Given the description of an element on the screen output the (x, y) to click on. 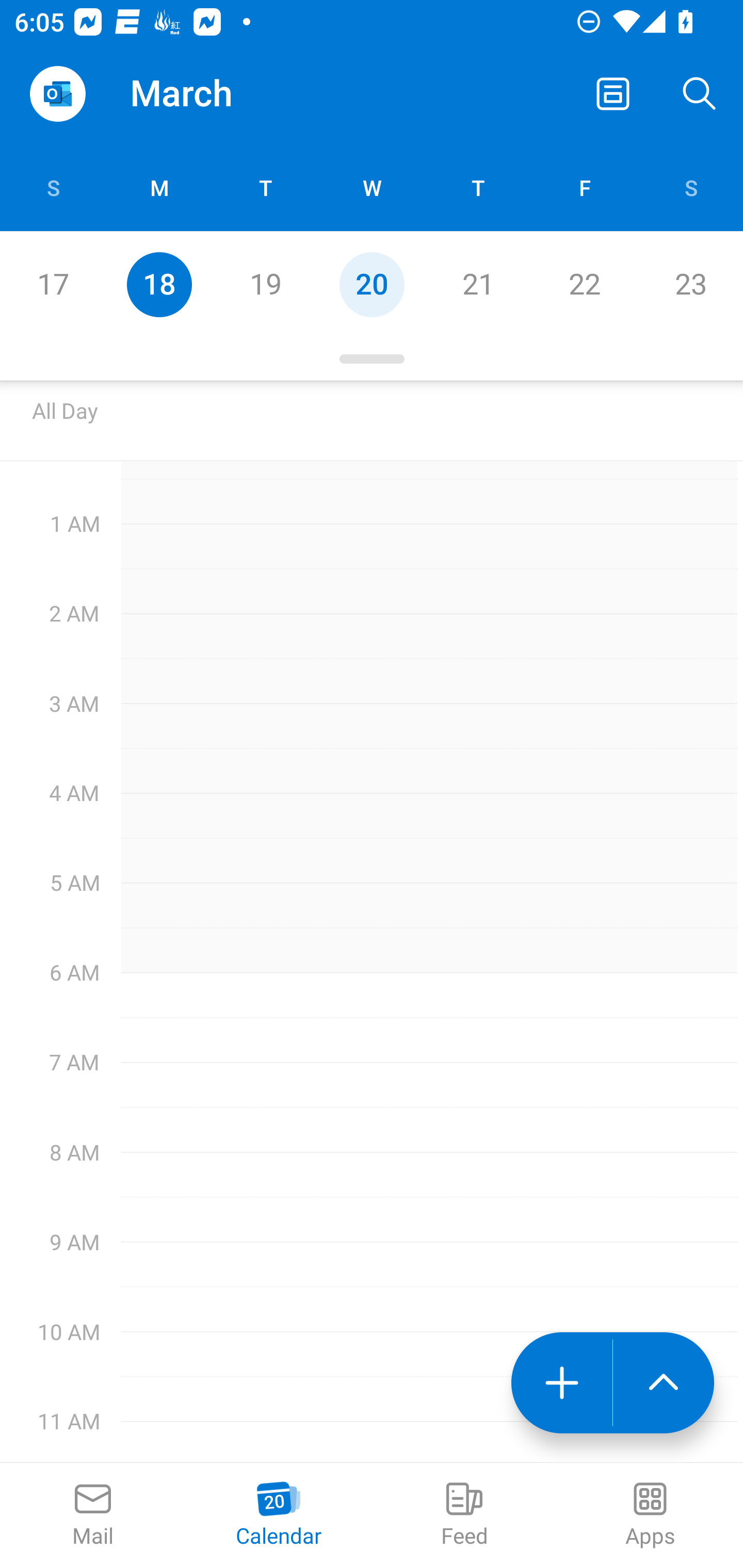
March March 2024, day picker (209, 93)
Switch away from Day view (612, 93)
Search, ,  (699, 93)
Open Navigation Drawer (57, 94)
17 Sunday, March 17 (53, 284)
18 Monday, March 18, Selected (159, 284)
19 Tuesday, March 19 (265, 284)
20 Wednesday, March 20, today (371, 284)
21 Thursday, March 21 (477, 284)
22 Friday, March 22 (584, 284)
23 Saturday, March 23 (690, 284)
Day picker (371, 359)
New event (561, 1382)
launch the extended action menu (663, 1382)
Mail (92, 1515)
Feed (464, 1515)
Apps (650, 1515)
